Given the description of an element on the screen output the (x, y) to click on. 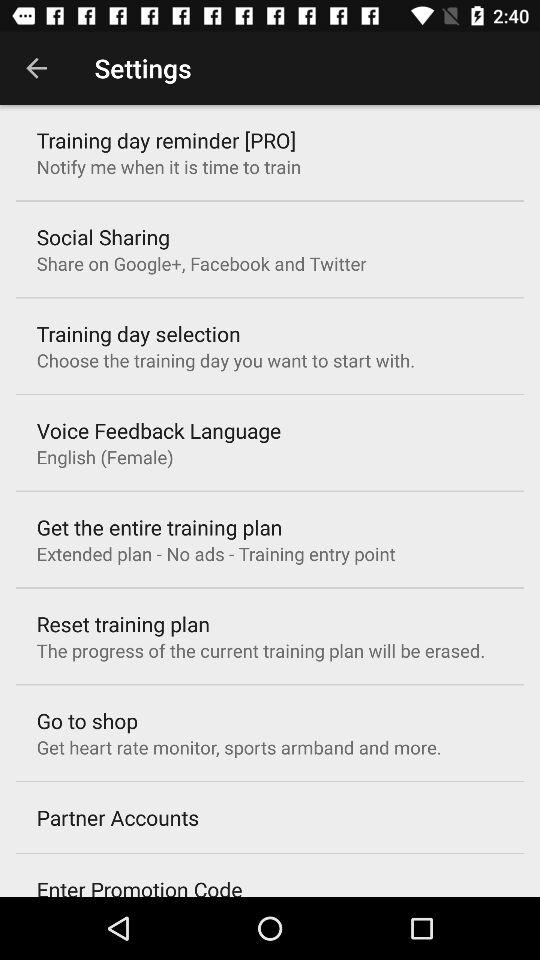
select icon below the notify me when (102, 236)
